Given the description of an element on the screen output the (x, y) to click on. 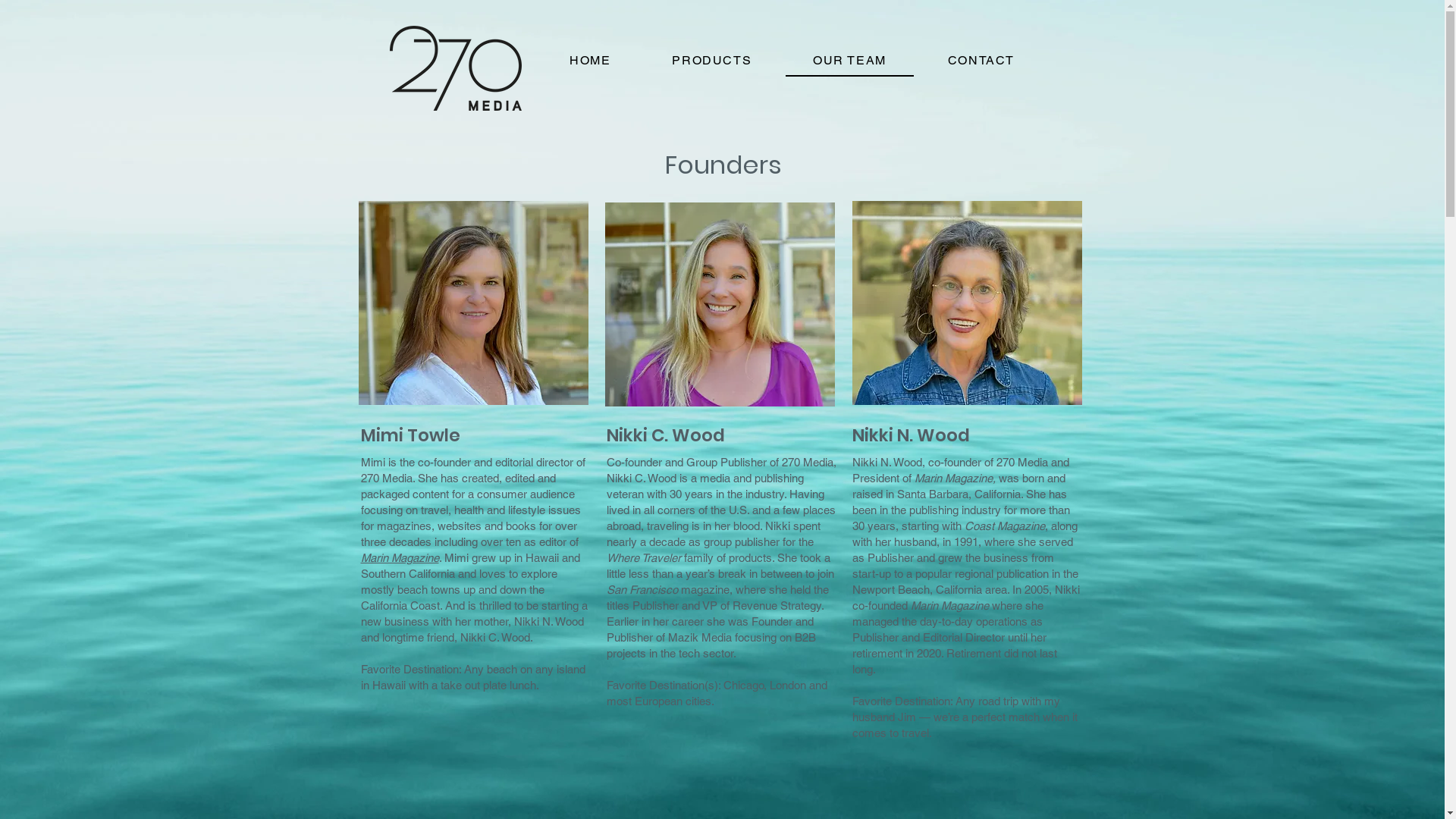
CONTACT Element type: text (980, 60)
PRODUCTS Element type: text (711, 60)
OUR TEAM Element type: text (849, 60)
Marin Magazine Element type: text (399, 557)
HOME Element type: text (589, 60)
